Given the description of an element on the screen output the (x, y) to click on. 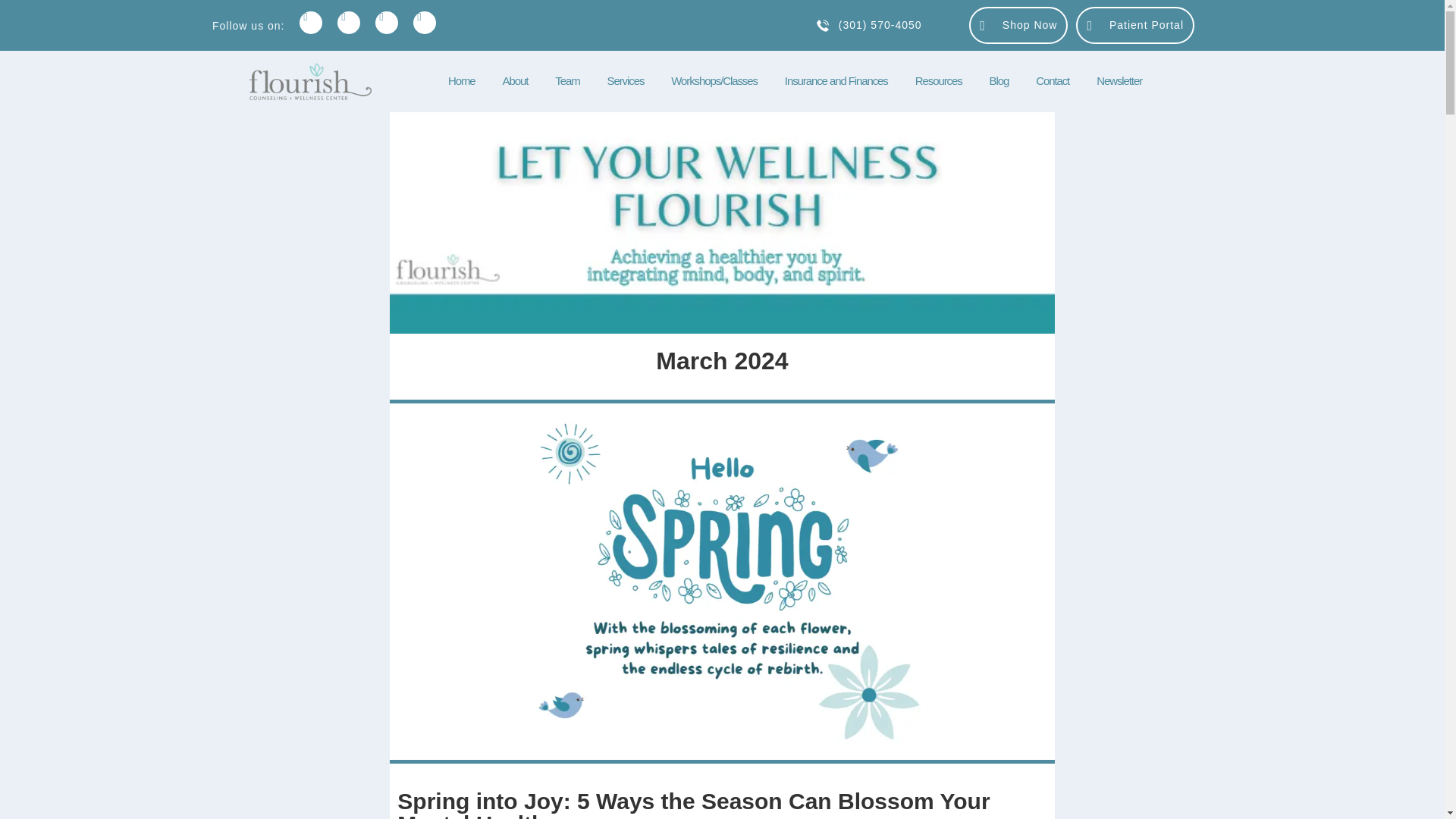
Shop Now (1018, 25)
Team (566, 80)
Patient Portal (1134, 25)
Services (626, 80)
Home (461, 80)
About (515, 80)
